Given the description of an element on the screen output the (x, y) to click on. 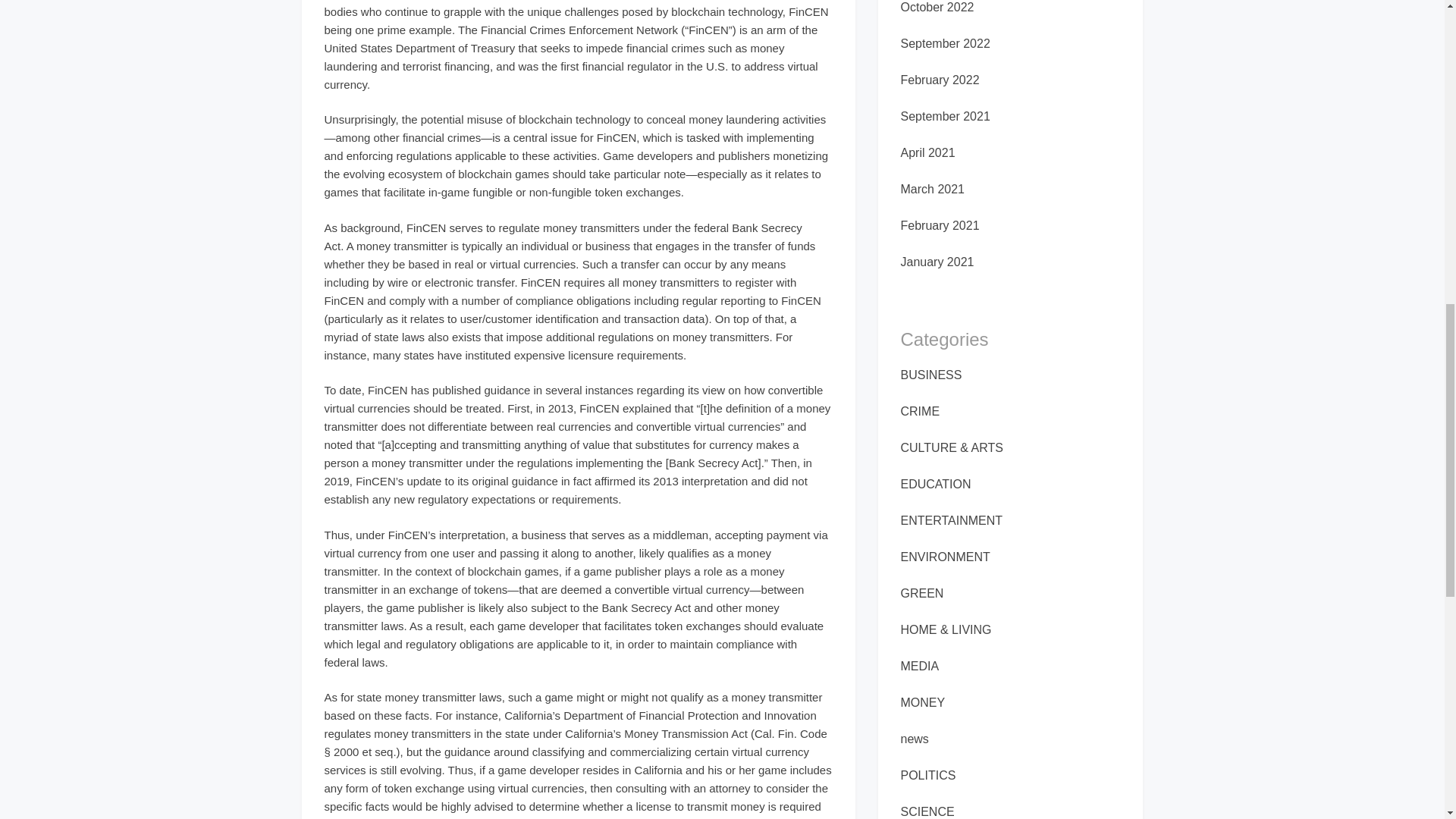
ENTERTAINMENT (952, 520)
February 2021 (940, 225)
April 2021 (928, 152)
September 2021 (945, 115)
GREEN (922, 593)
March 2021 (933, 188)
January 2021 (937, 261)
SCIENCE (928, 811)
October 2022 (937, 6)
ENVIRONMENT (945, 556)
